Given the description of an element on the screen output the (x, y) to click on. 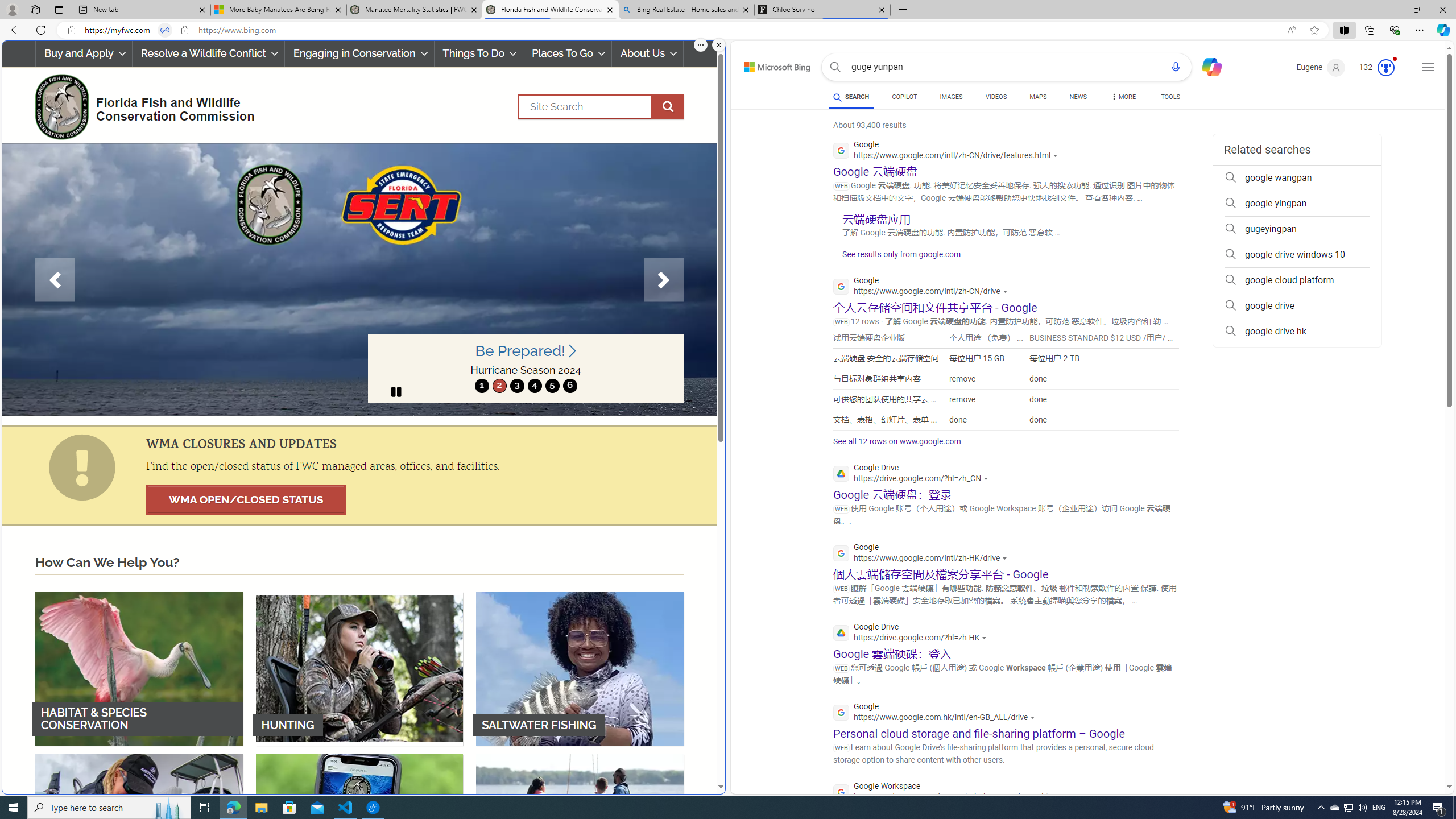
Search using voice (1174, 66)
Florida Fish and Wildlife Conservation Commission | FWC (550, 9)
Buy and Apply (84, 53)
1 (481, 385)
Places To Go (566, 53)
MAPS (1038, 98)
COPILOT (903, 98)
Add this page to favorites (Ctrl+D) (1314, 29)
gugeyingpan (1297, 229)
SALTWATER FISHING (580, 668)
About Us (647, 53)
move to slide 5 (551, 385)
Things To Do (478, 53)
